Given the description of an element on the screen output the (x, y) to click on. 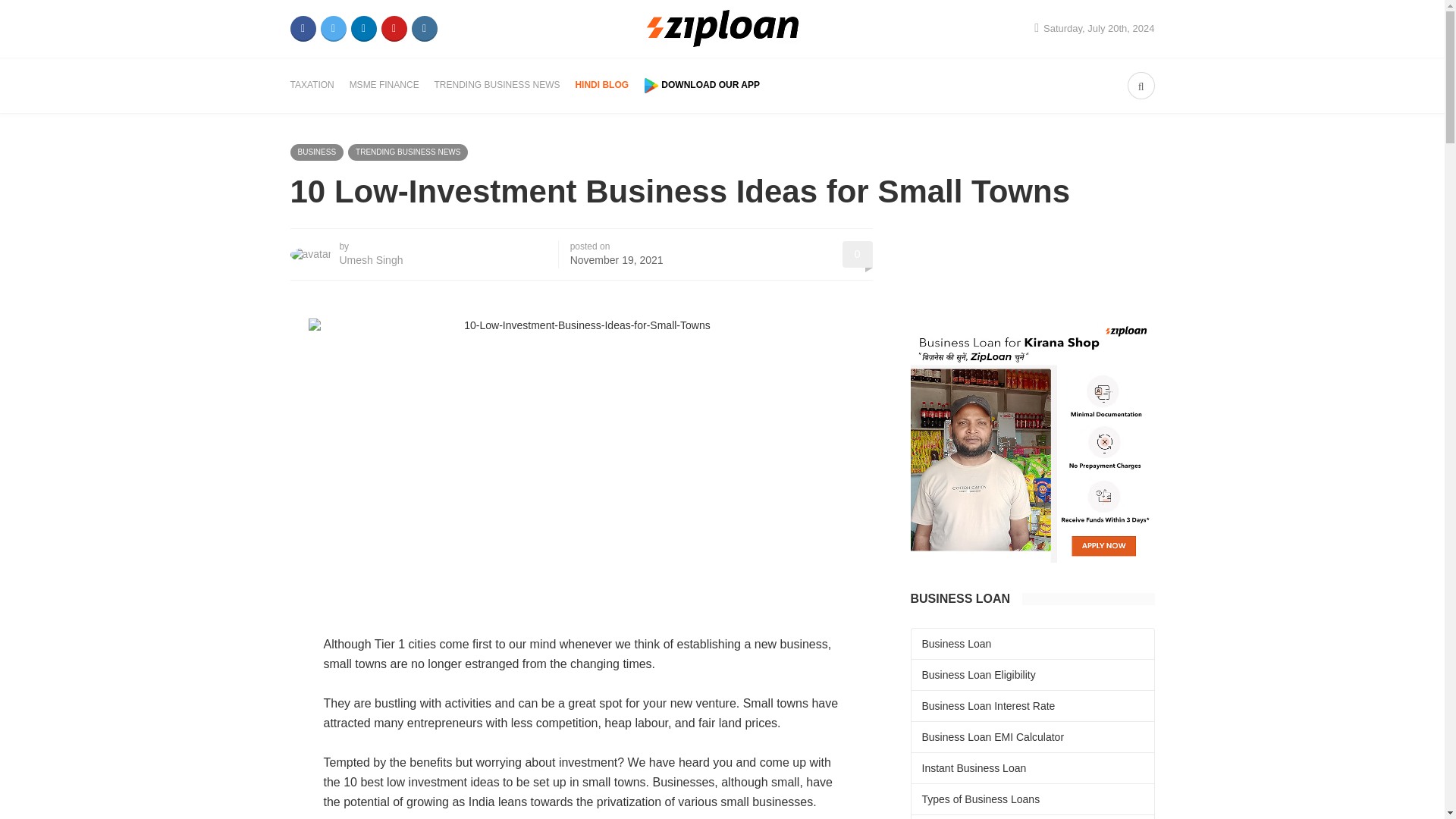
View all posts in Trending Business News (407, 152)
DOWNLOAD OUR APP (701, 85)
Posts by Umesh Singh (371, 259)
View all posts in Business (316, 152)
TRENDING BUSINESS NEWS (496, 84)
0 (857, 254)
November 19, 2021 (616, 259)
TRENDING BUSINESS NEWS (407, 152)
BUSINESS (316, 152)
TAXATION (311, 84)
MSME FINANCE (384, 84)
Umesh Singh (371, 259)
Comment (857, 254)
HINDI BLOG (601, 84)
